Given the description of an element on the screen output the (x, y) to click on. 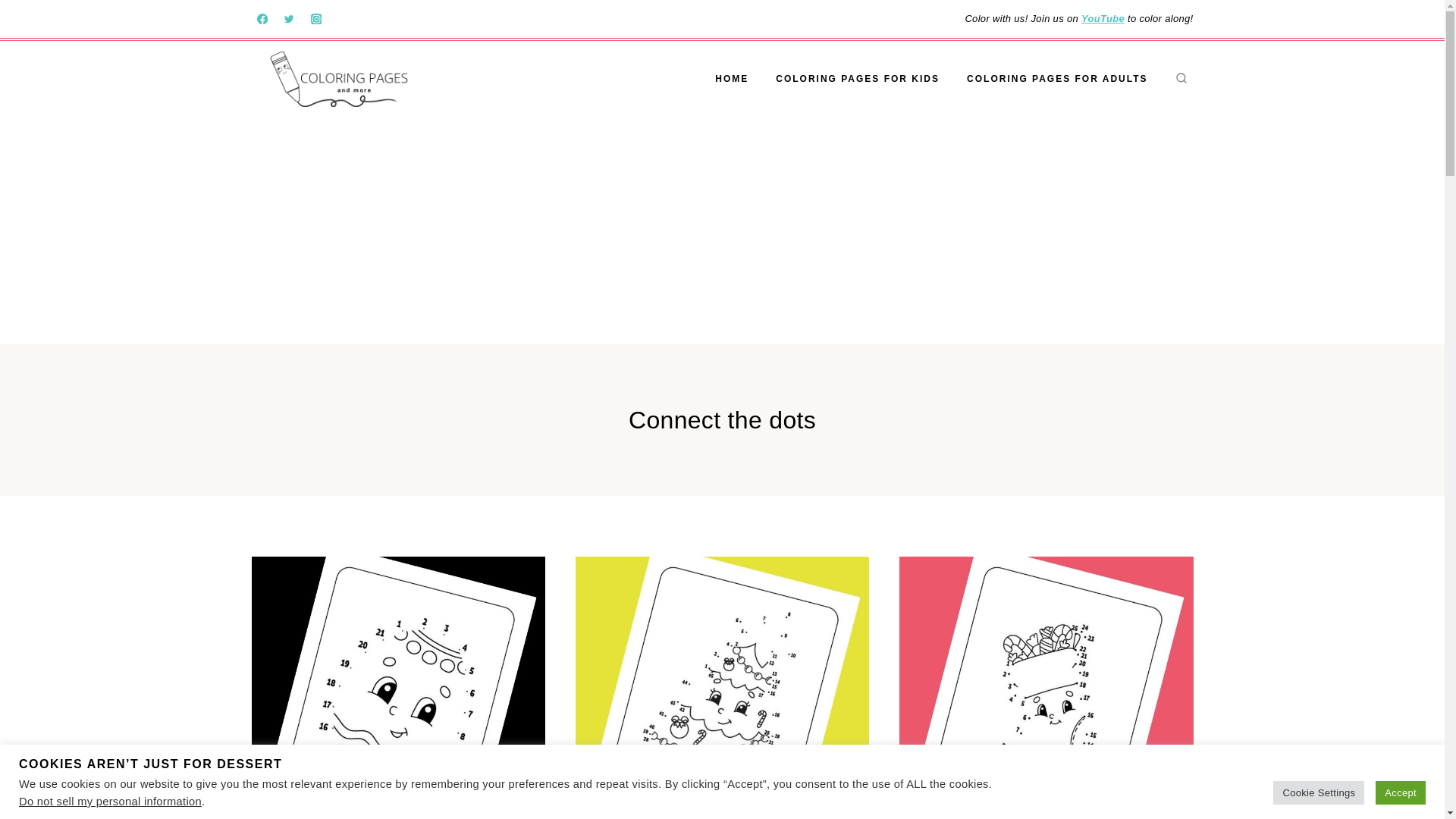
YouTube (1102, 18)
COLORING PAGES FOR KIDS (857, 79)
HOME (731, 79)
COLORING PAGES FOR ADULTS (1056, 79)
